Given the description of an element on the screen output the (x, y) to click on. 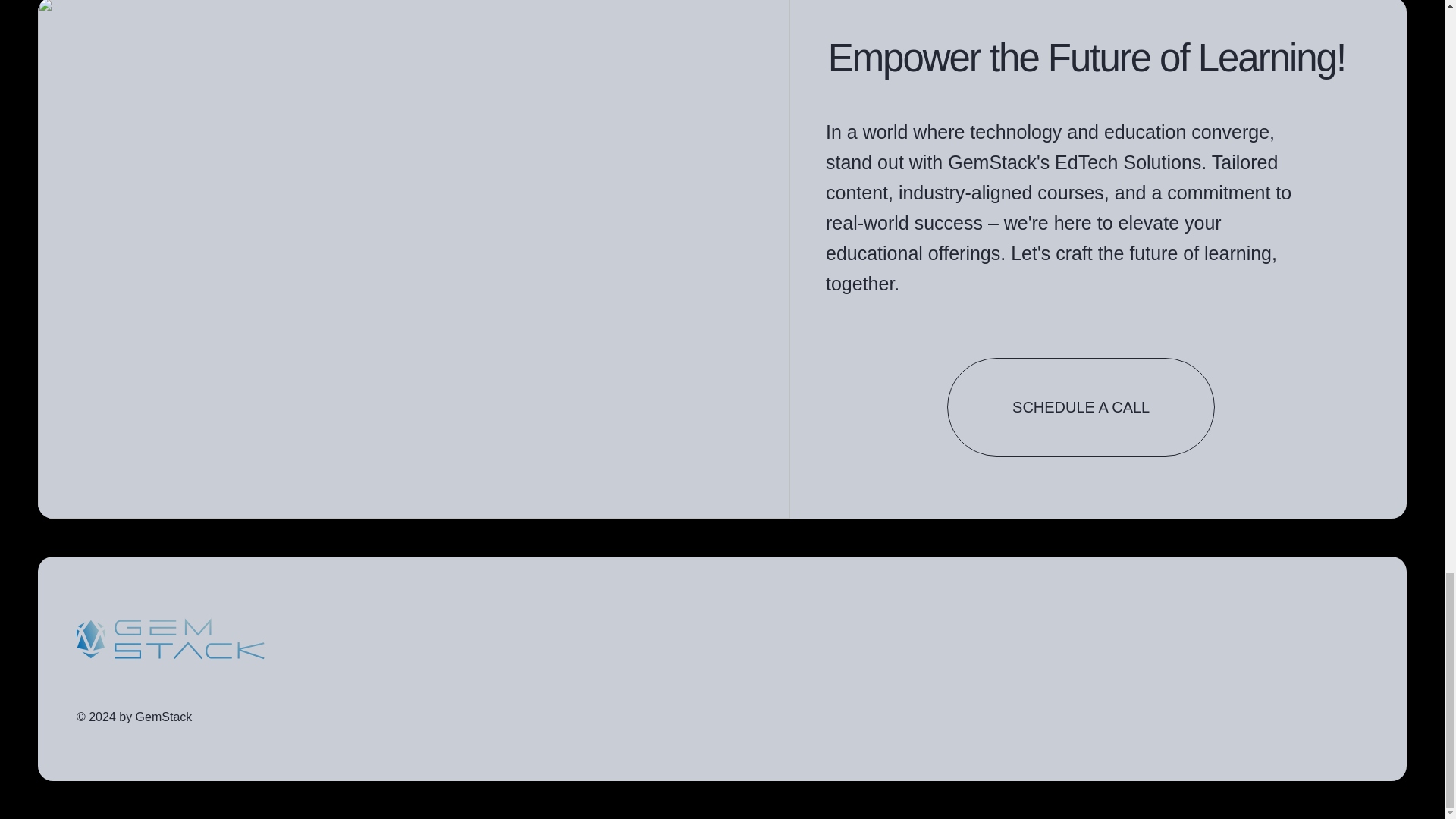
SCHEDULE A CALL (1080, 406)
